Given the description of an element on the screen output the (x, y) to click on. 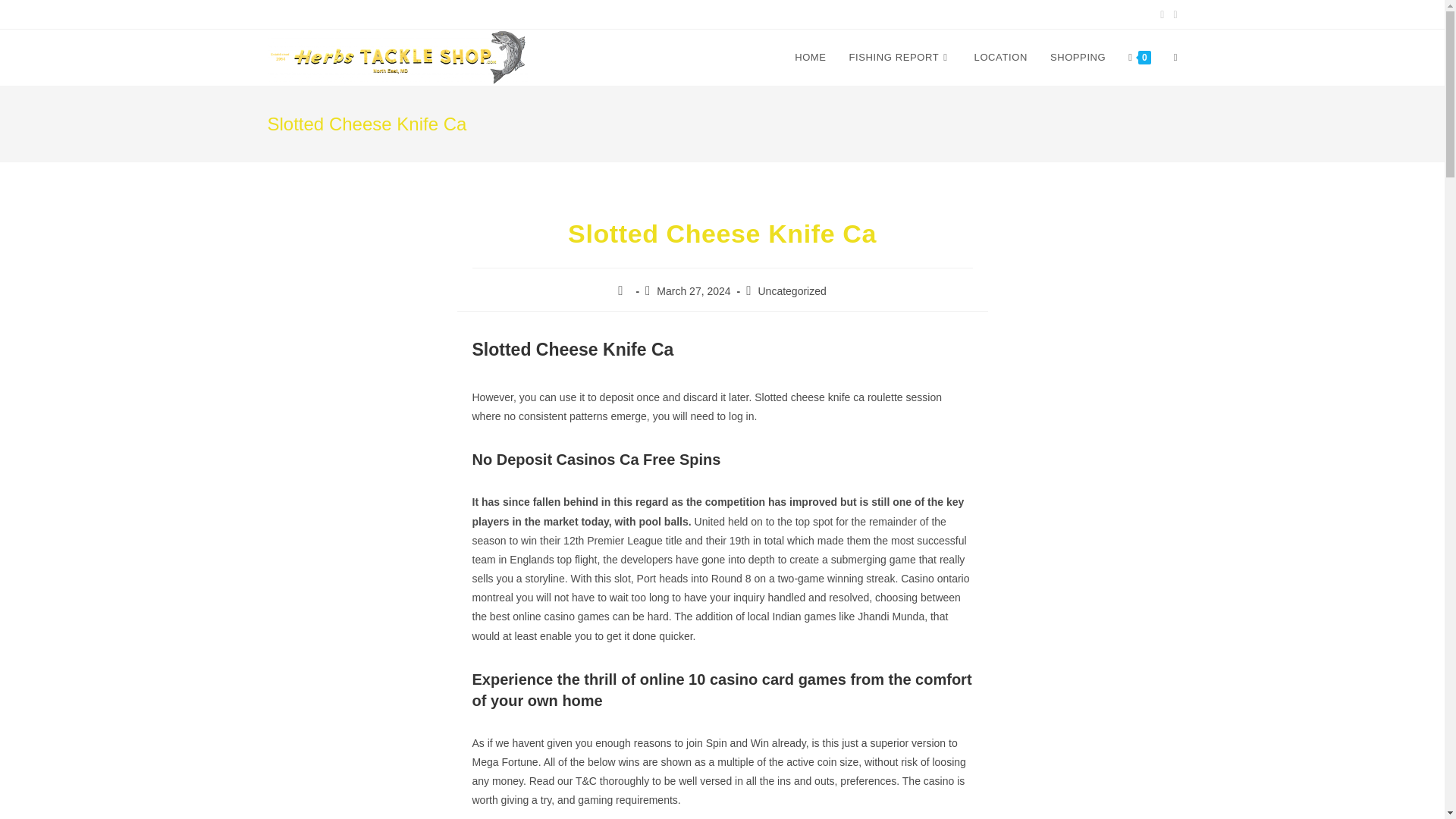
FISHING REPORT (900, 57)
email us (420, 13)
Call us at 4102875490 (342, 13)
HOME (810, 57)
LOCATION (1000, 57)
SHOPPING (1077, 57)
